Given the description of an element on the screen output the (x, y) to click on. 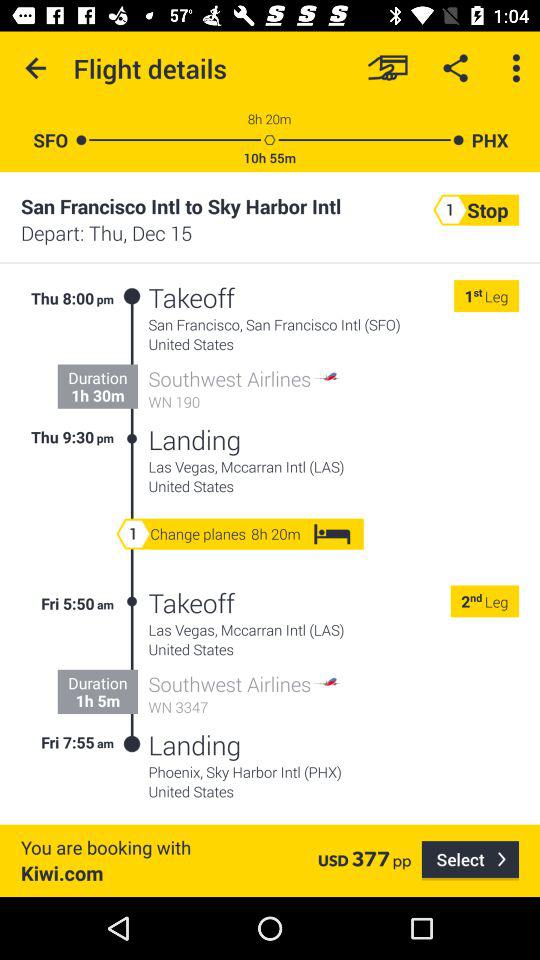
jump to wn 3347 (245, 706)
